Given the description of an element on the screen output the (x, y) to click on. 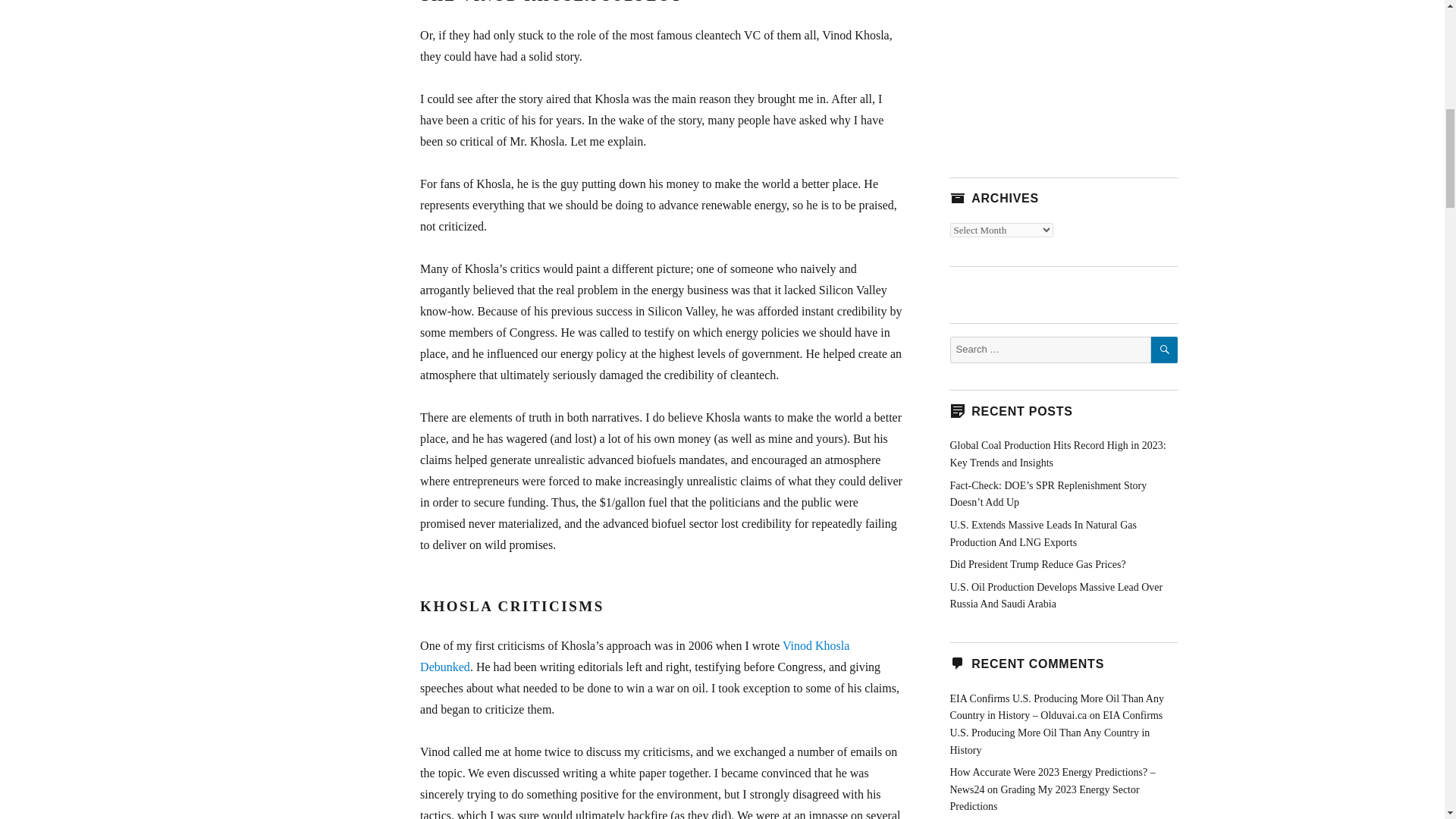
Advertisement (1062, 72)
Vinod Khosla Debunked (634, 656)
Search for: (1049, 349)
SEARCH (1164, 349)
